Given the description of an element on the screen output the (x, y) to click on. 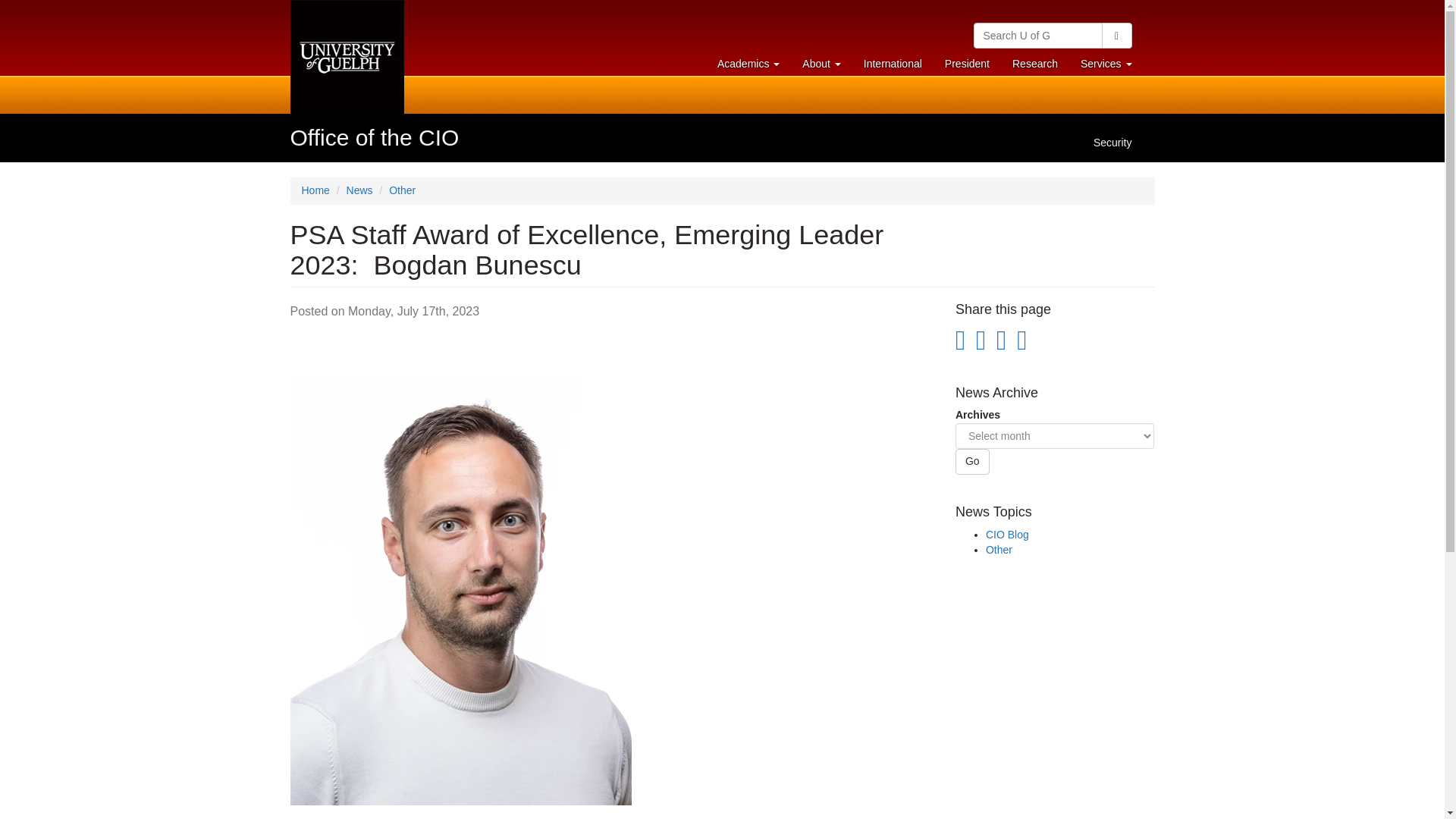
Home (374, 137)
International (748, 63)
Search (892, 63)
Skip to main content (1115, 35)
President (1034, 63)
